Given the description of an element on the screen output the (x, y) to click on. 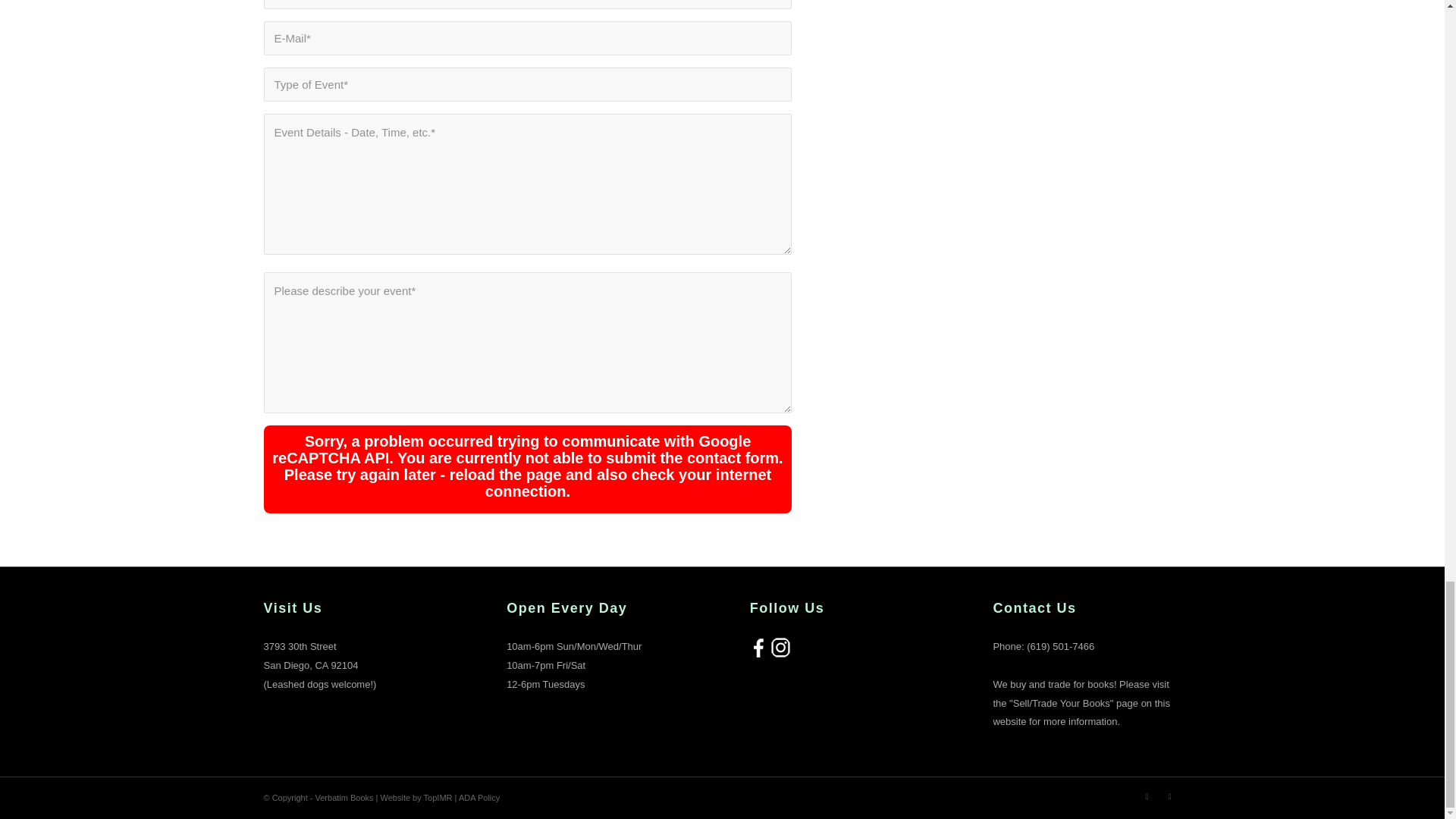
Instagram (1169, 795)
TopIMR (437, 797)
ADA Policy (478, 797)
Facebook (1146, 795)
